Given the description of an element on the screen output the (x, y) to click on. 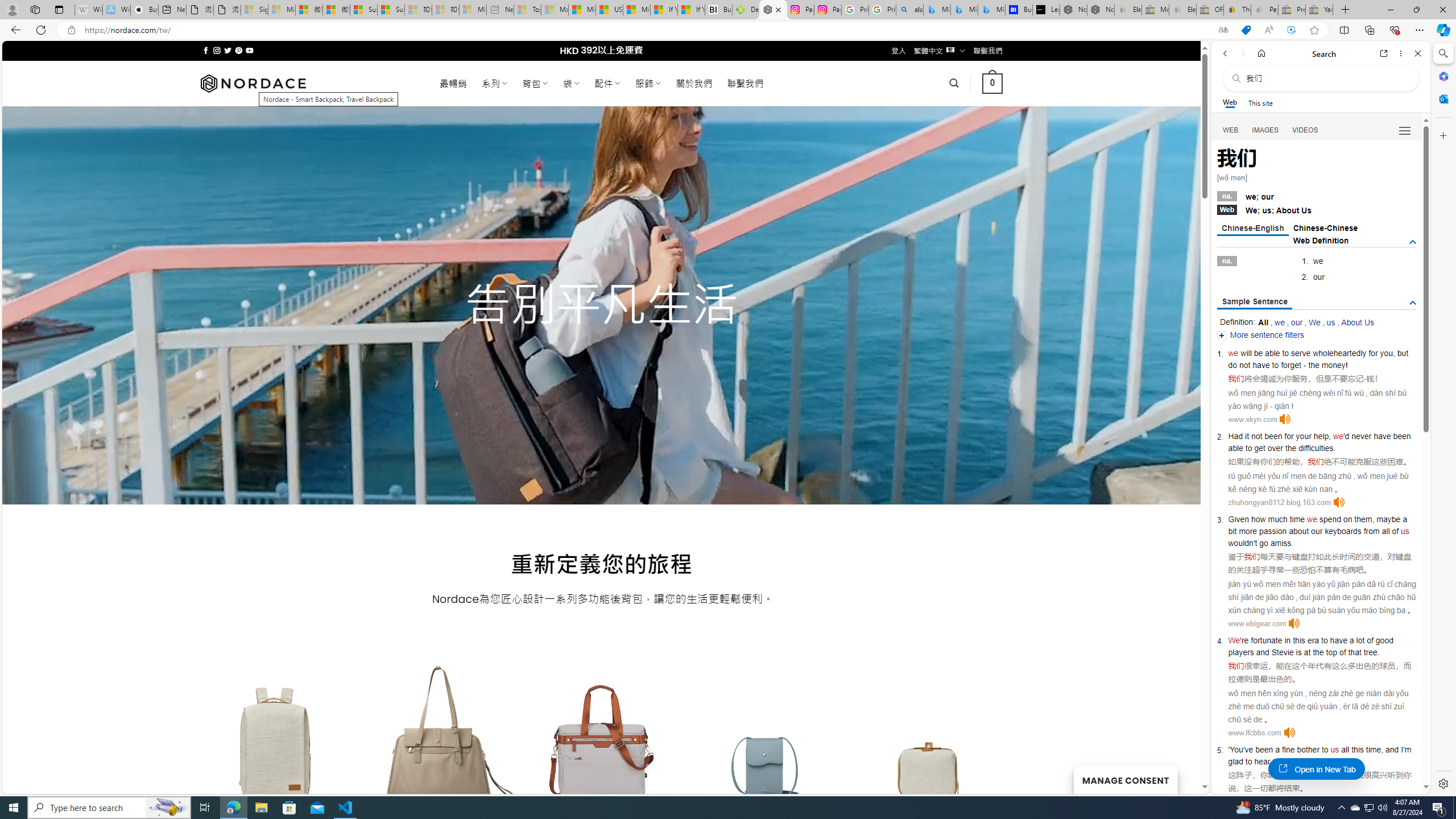
about (1298, 530)
AutomationID: tgdef (1412, 241)
WebWe; us; About Us (1316, 209)
alabama high school quarterback dies - Search (909, 9)
your (1303, 435)
'm (1407, 749)
